Given the description of an element on the screen output the (x, y) to click on. 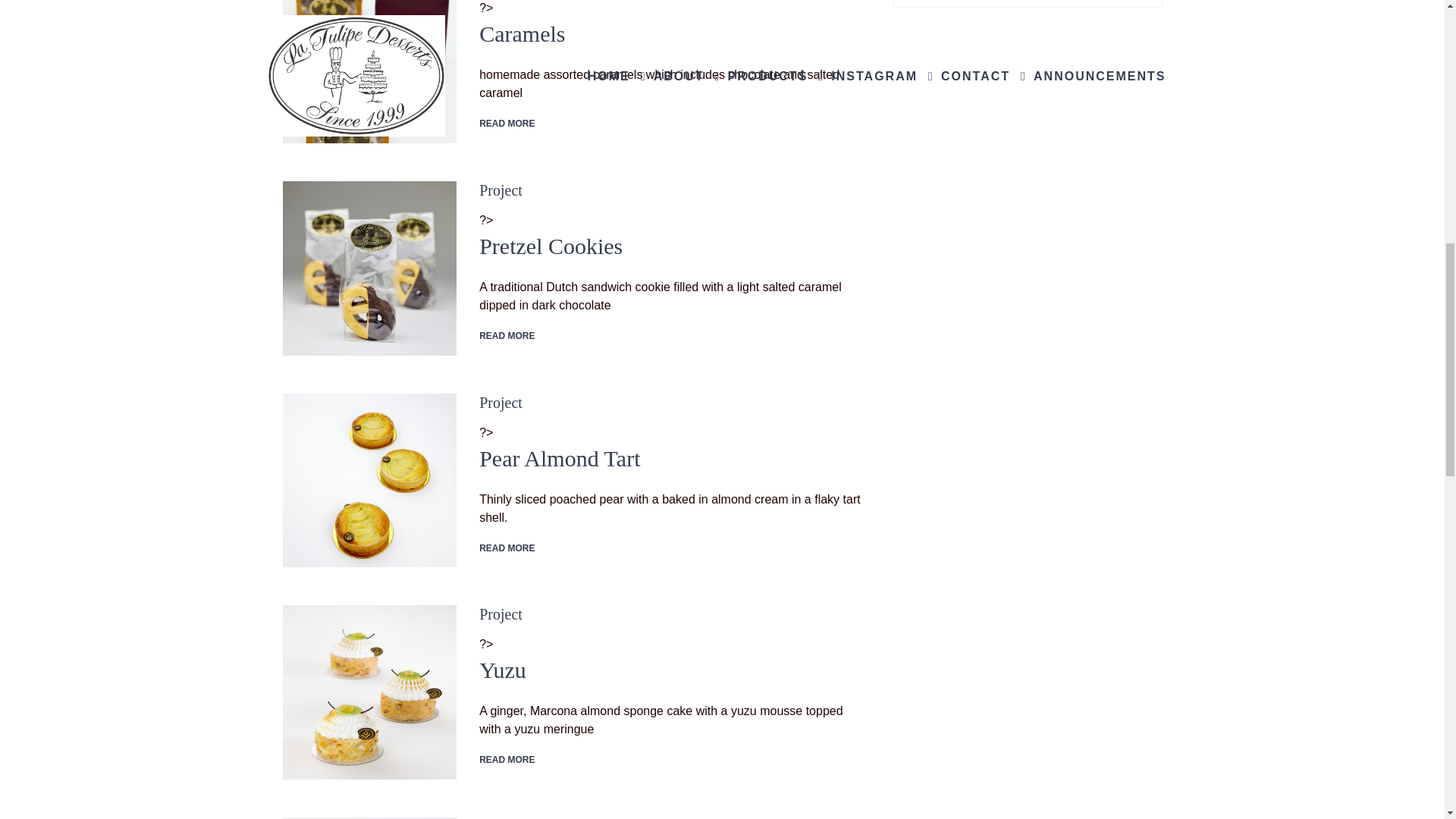
READ MORE (506, 547)
Yuzu (502, 669)
Caramels (521, 33)
Pear Almond Tart (369, 480)
Caramels (369, 71)
Pretzel Cookies (369, 267)
Pear Almond Tart (559, 457)
READ MORE (506, 335)
READ MORE (506, 122)
Pretzel Cookies (551, 245)
Yuzu (369, 692)
